Given the description of an element on the screen output the (x, y) to click on. 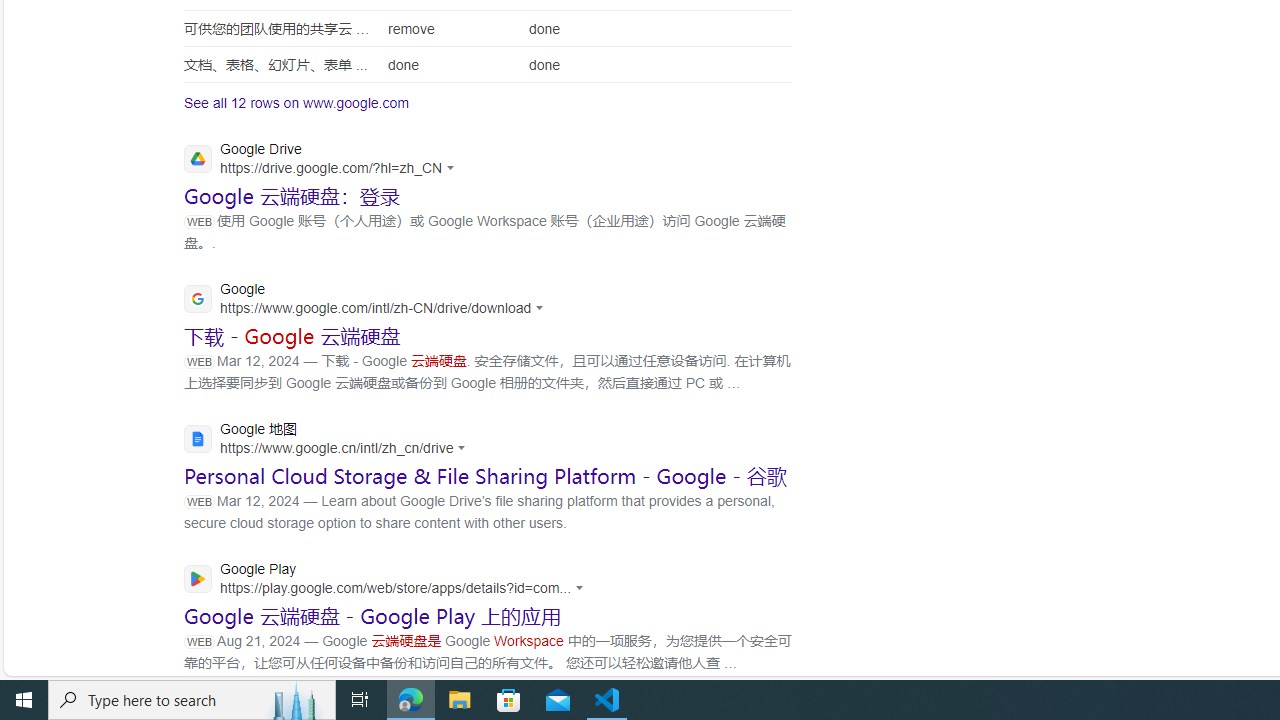
Google Play (389, 579)
Actions for this site (582, 587)
Google (369, 300)
Global web icon (197, 578)
